Given the description of an element on the screen output the (x, y) to click on. 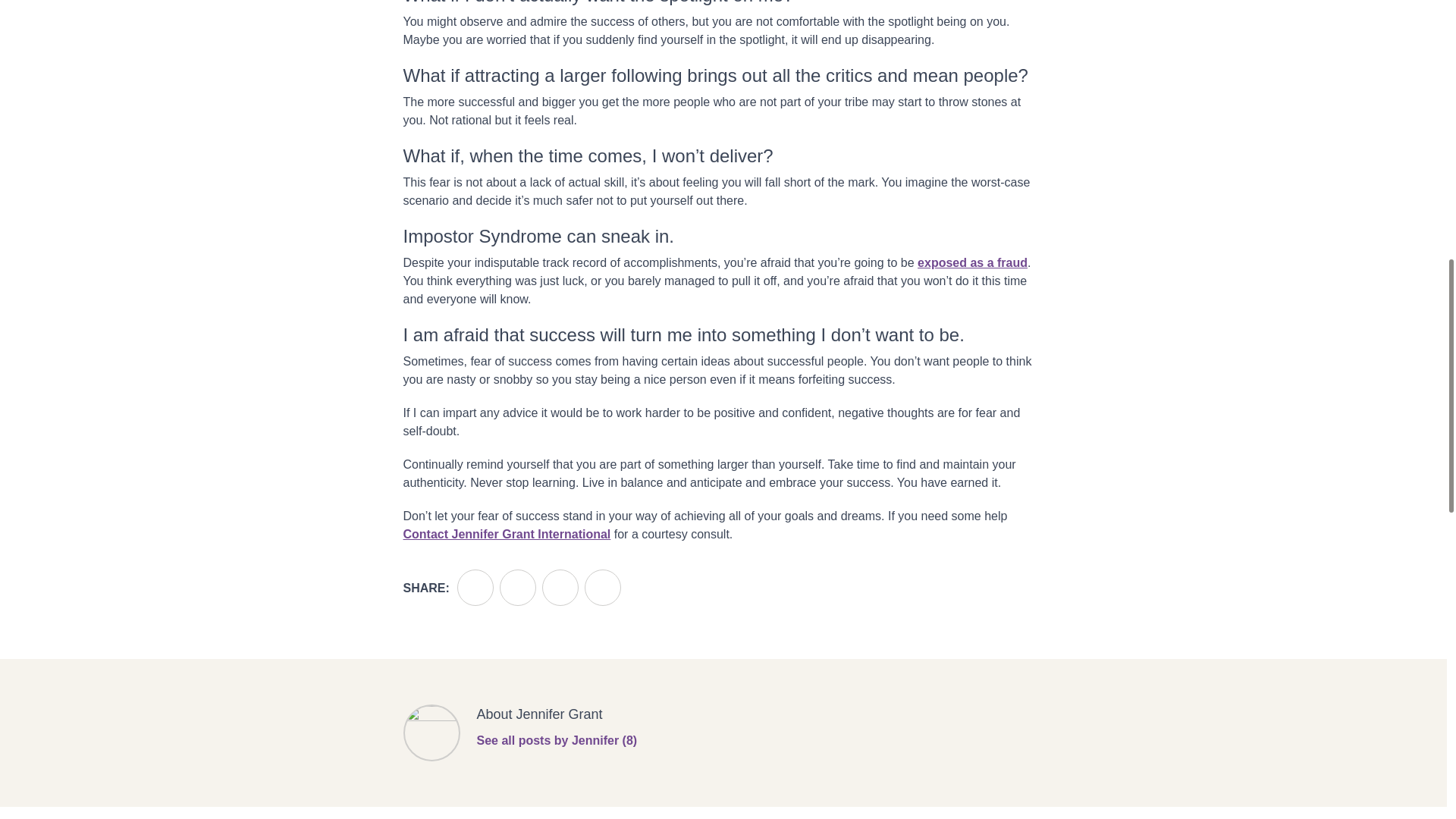
Twitter (517, 587)
LinkedIn (559, 587)
Facebook (475, 587)
